Given the description of an element on the screen output the (x, y) to click on. 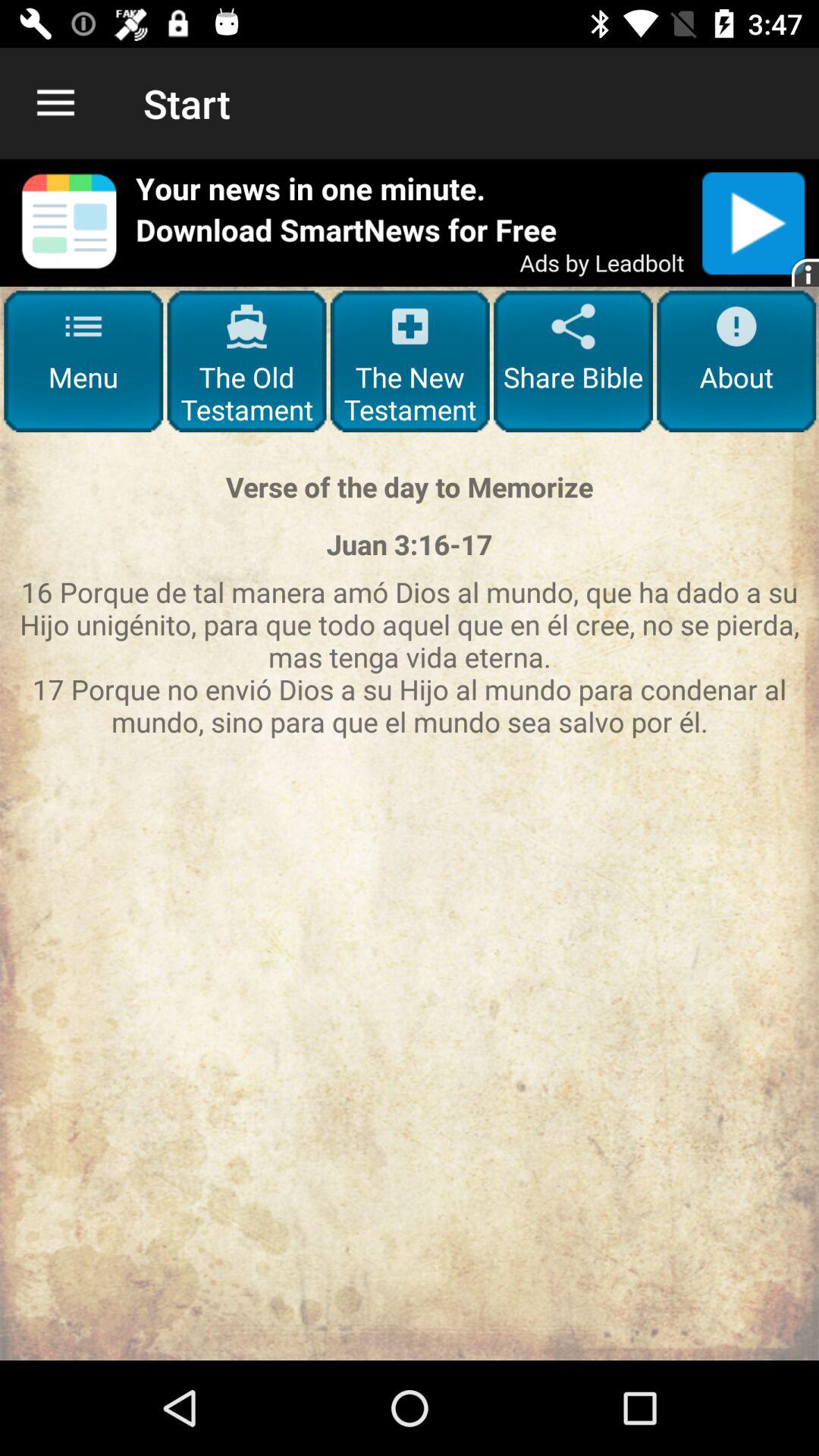
open advertisement (409, 222)
